Given the description of an element on the screen output the (x, y) to click on. 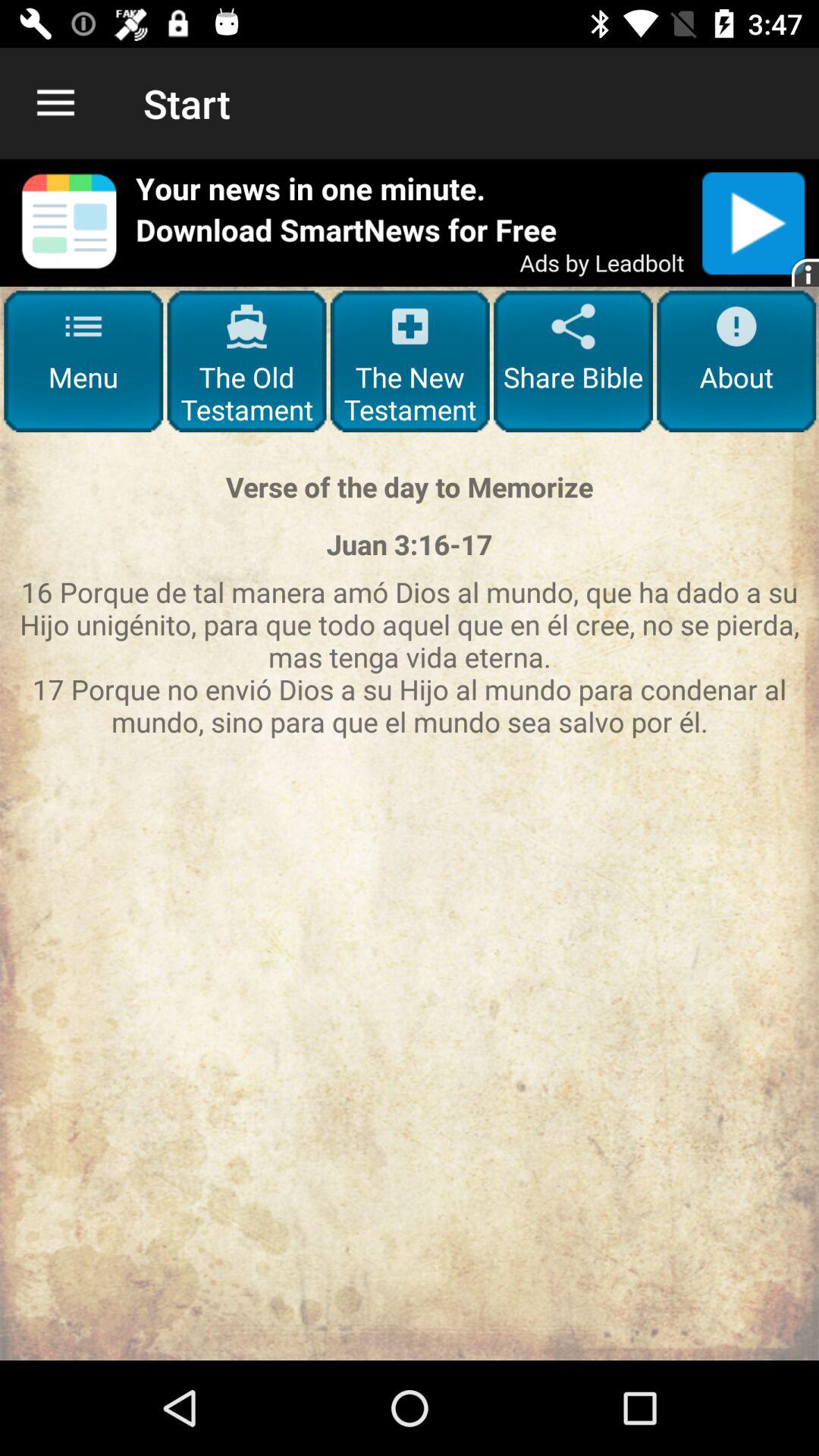
open advertisement (409, 222)
